Given the description of an element on the screen output the (x, y) to click on. 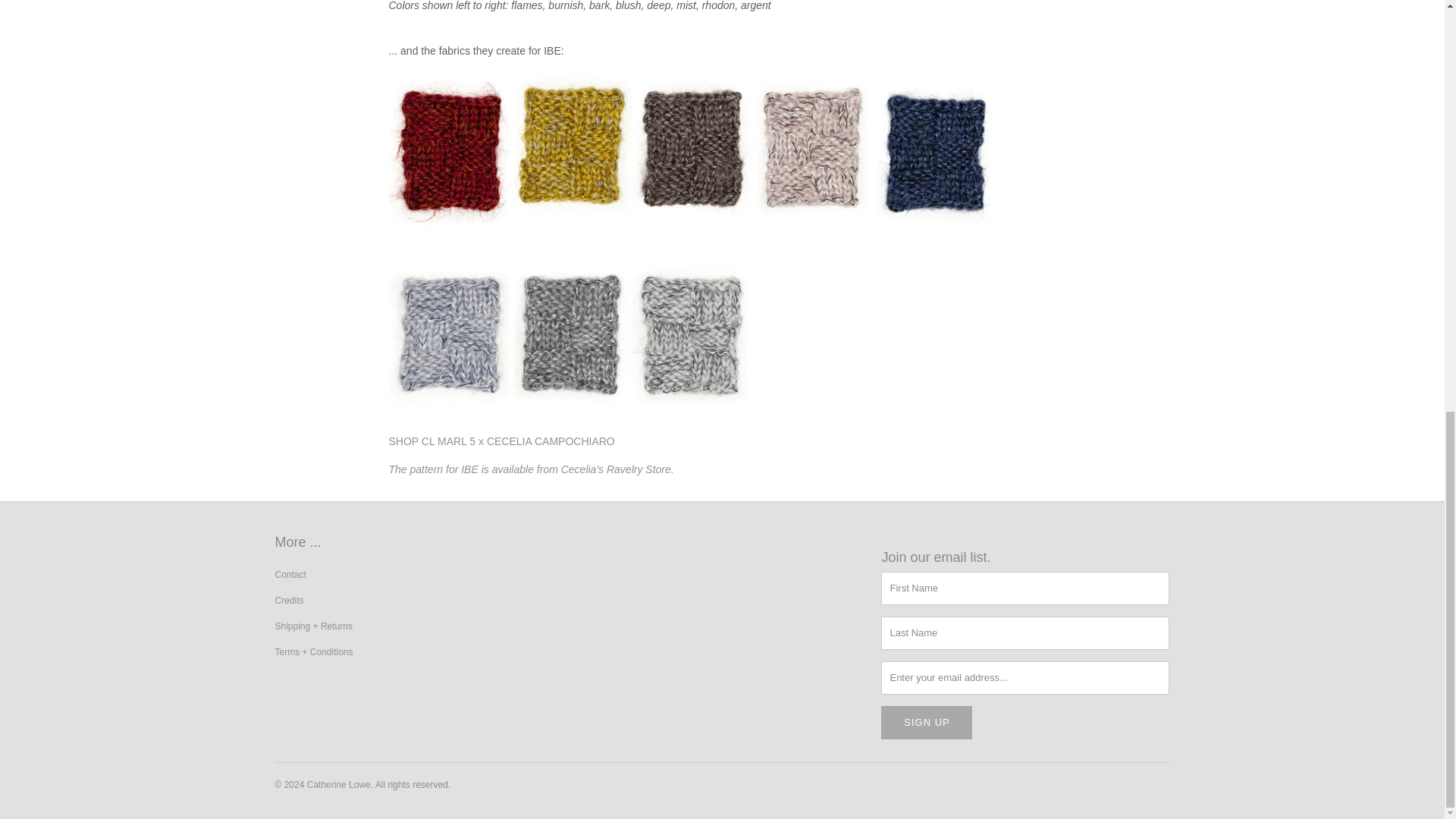
cecelia campochiaro marls (501, 440)
Sign Up (926, 722)
